Given the description of an element on the screen output the (x, y) to click on. 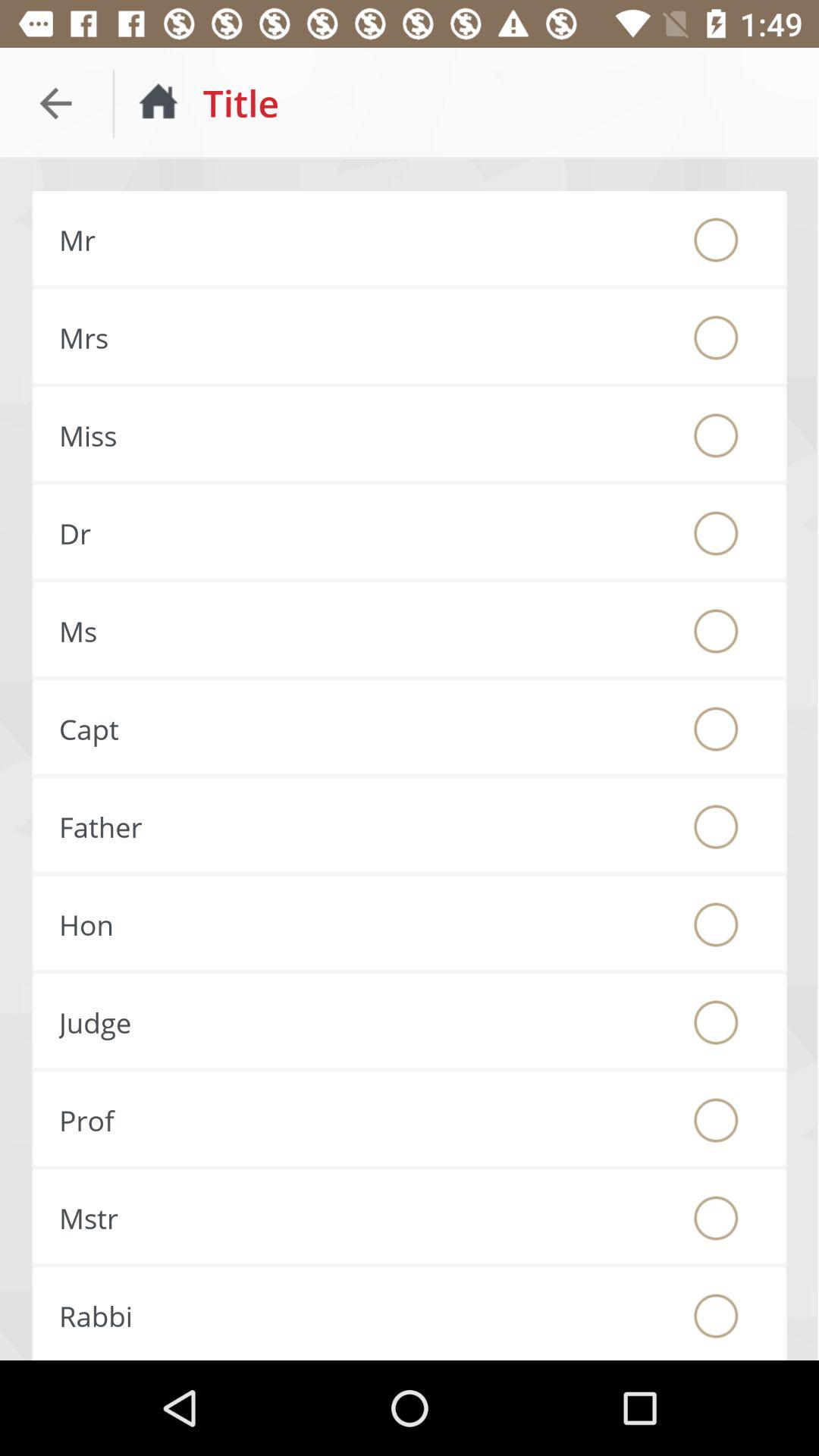
select title (715, 924)
